Given the description of an element on the screen output the (x, y) to click on. 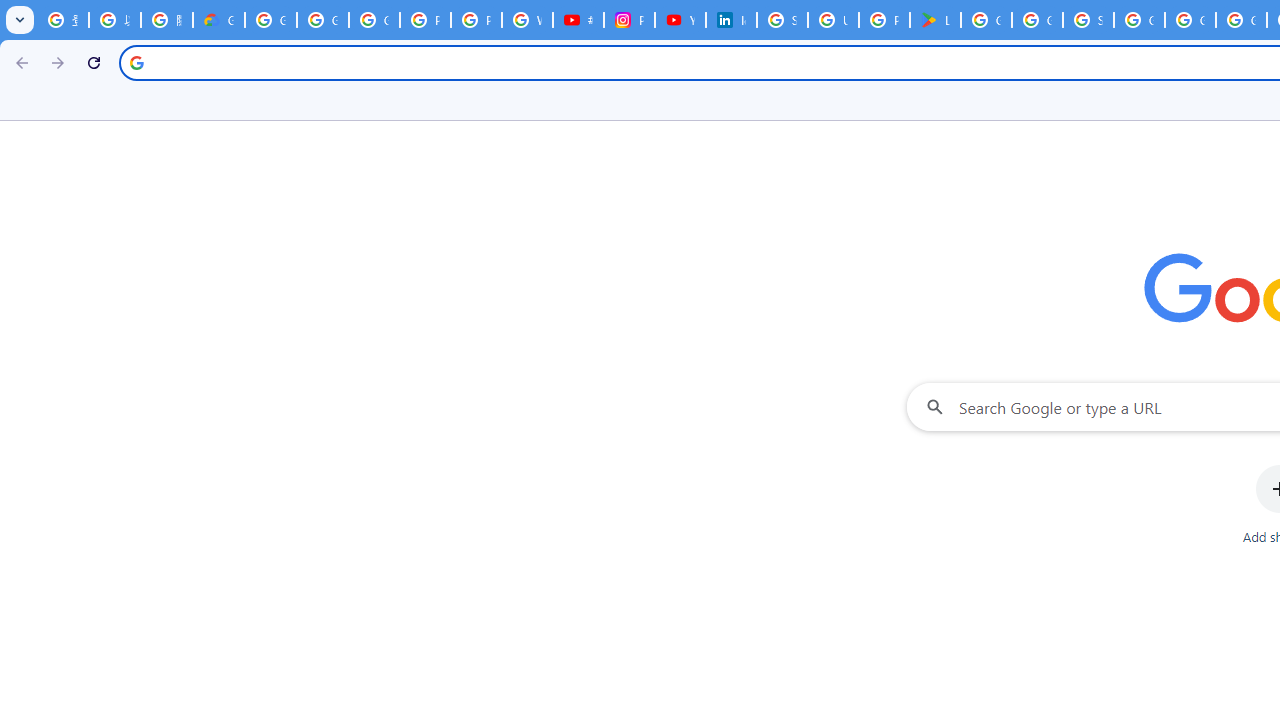
Google Cloud Platform (1189, 20)
Sign in - Google Accounts (781, 20)
YouTube Culture & Trends - On The Rise: Handcam Videos (680, 20)
Last Shelter: Survival - Apps on Google Play (935, 20)
Sign in - Google Accounts (1087, 20)
#nbabasketballhighlights - YouTube (578, 20)
Privacy Help Center - Policies Help (475, 20)
